Given the description of an element on the screen output the (x, y) to click on. 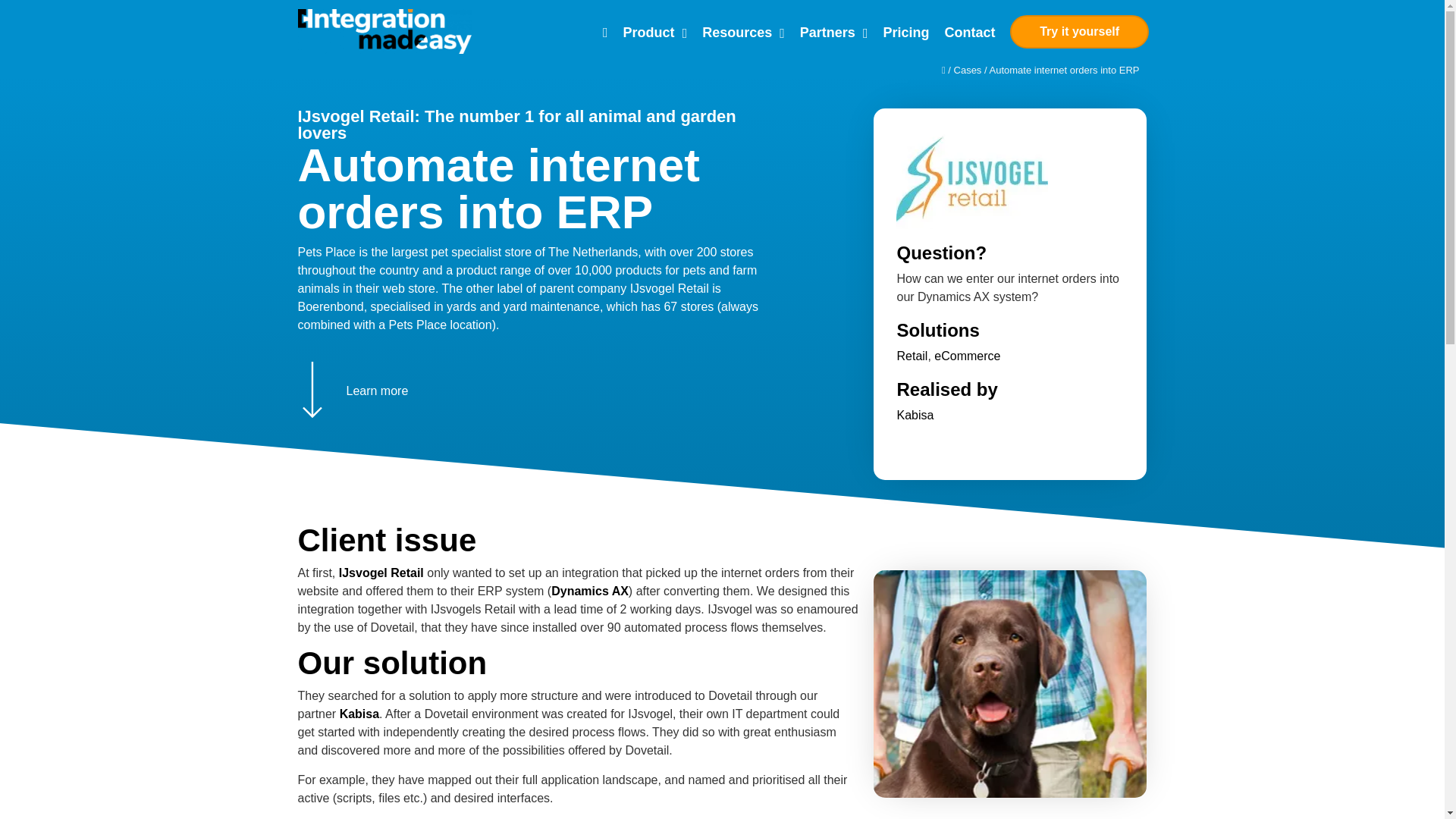
Resources (743, 31)
Product (655, 31)
Contact (969, 31)
Pricing (905, 31)
Partners (834, 31)
Try it yourself (1079, 31)
